Given the description of an element on the screen output the (x, y) to click on. 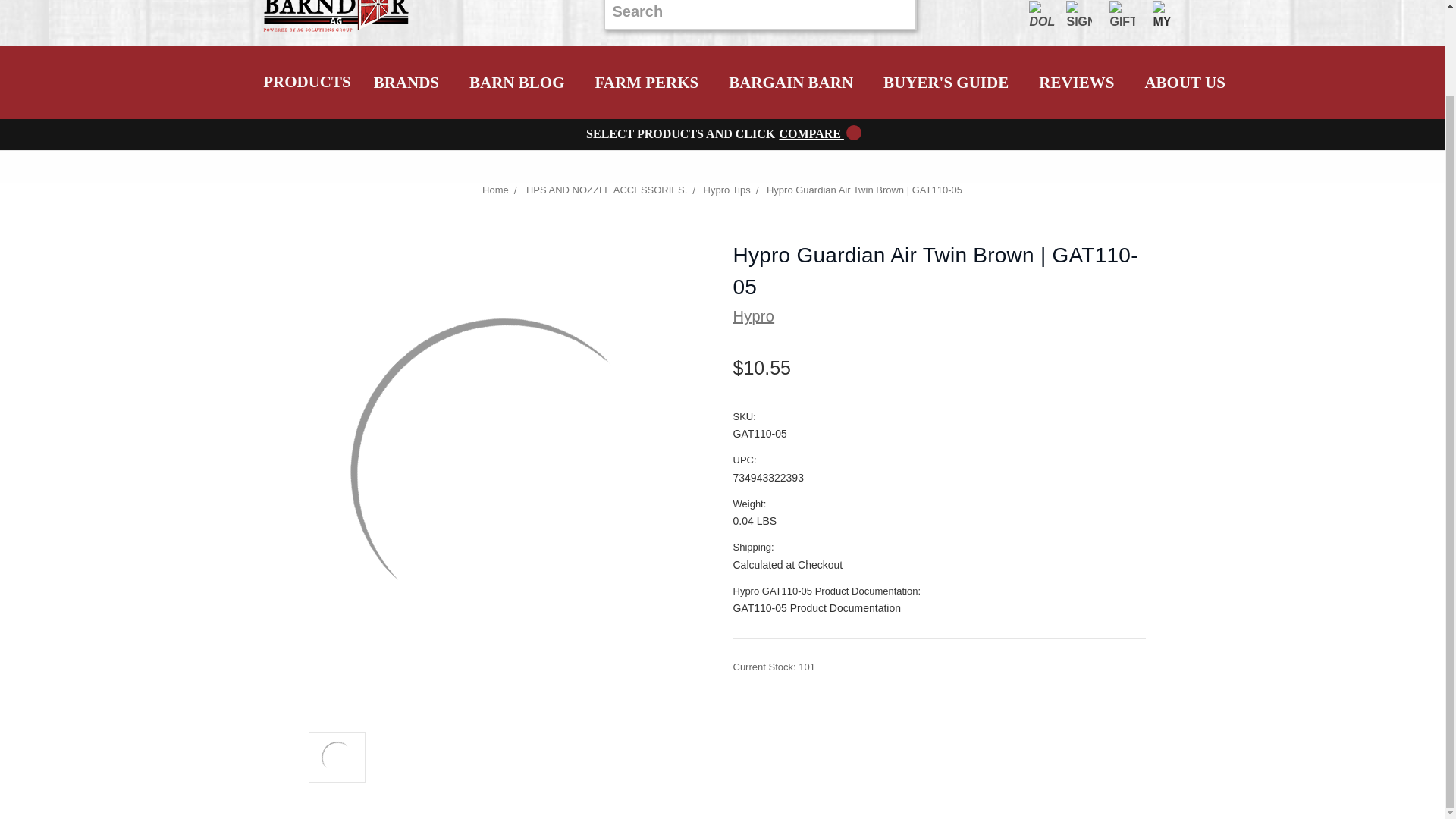
BARNDOOR AG (337, 19)
Hypro Guardian Air Twin GAT110 - Brown (337, 757)
